Given the description of an element on the screen output the (x, y) to click on. 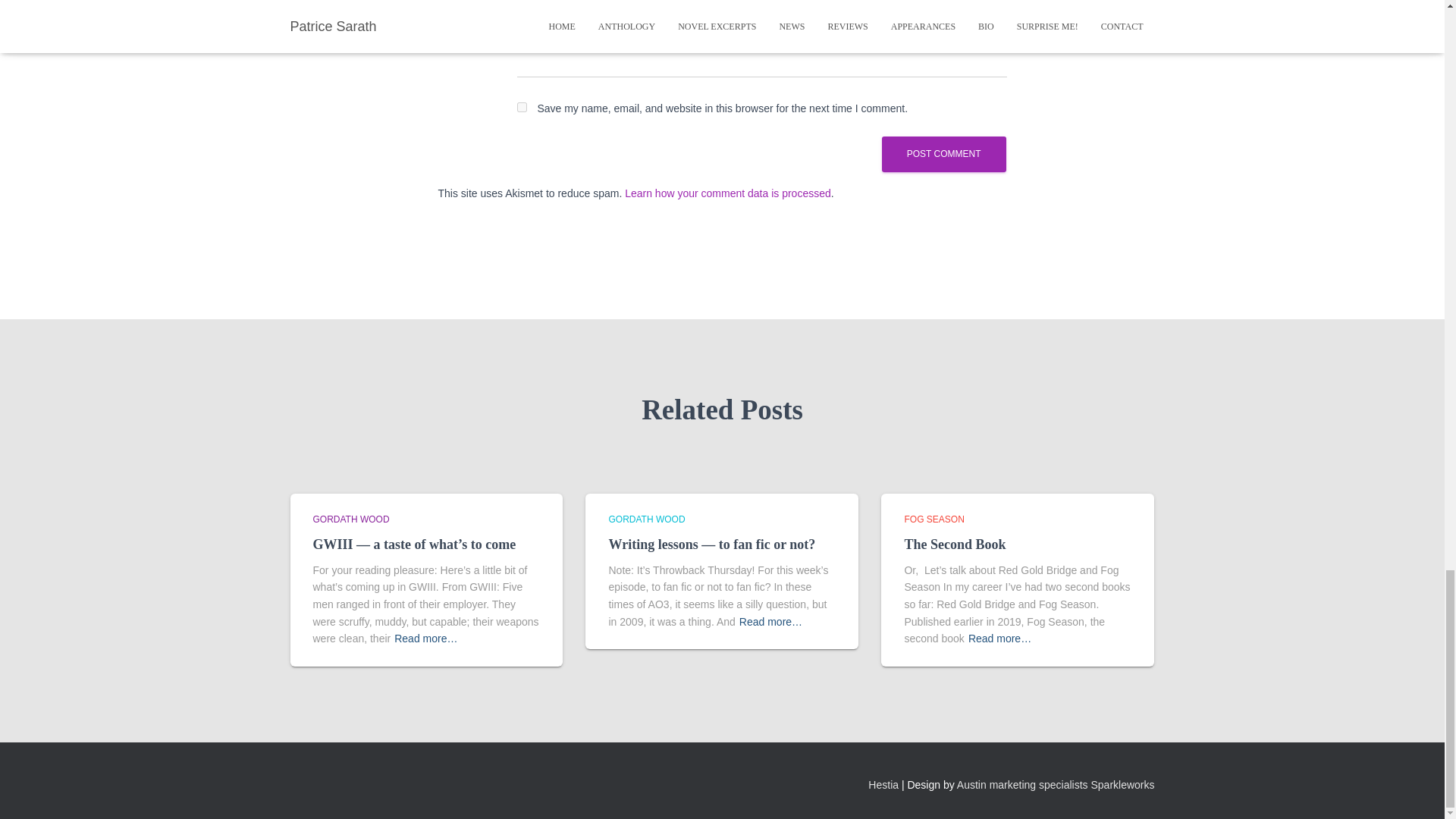
yes (521, 107)
Learn how your comment data is processed (727, 193)
Post Comment (944, 153)
View all posts in Gordath Wood (350, 519)
Austin marketing specialists Sparkleworks (1055, 784)
GORDATH WOOD (646, 519)
Hestia (882, 784)
FOG SEASON (933, 519)
Post Comment (944, 153)
View all posts in Gordath Wood (646, 519)
GORDATH WOOD (350, 519)
The Second Book (955, 544)
